Given the description of an element on the screen output the (x, y) to click on. 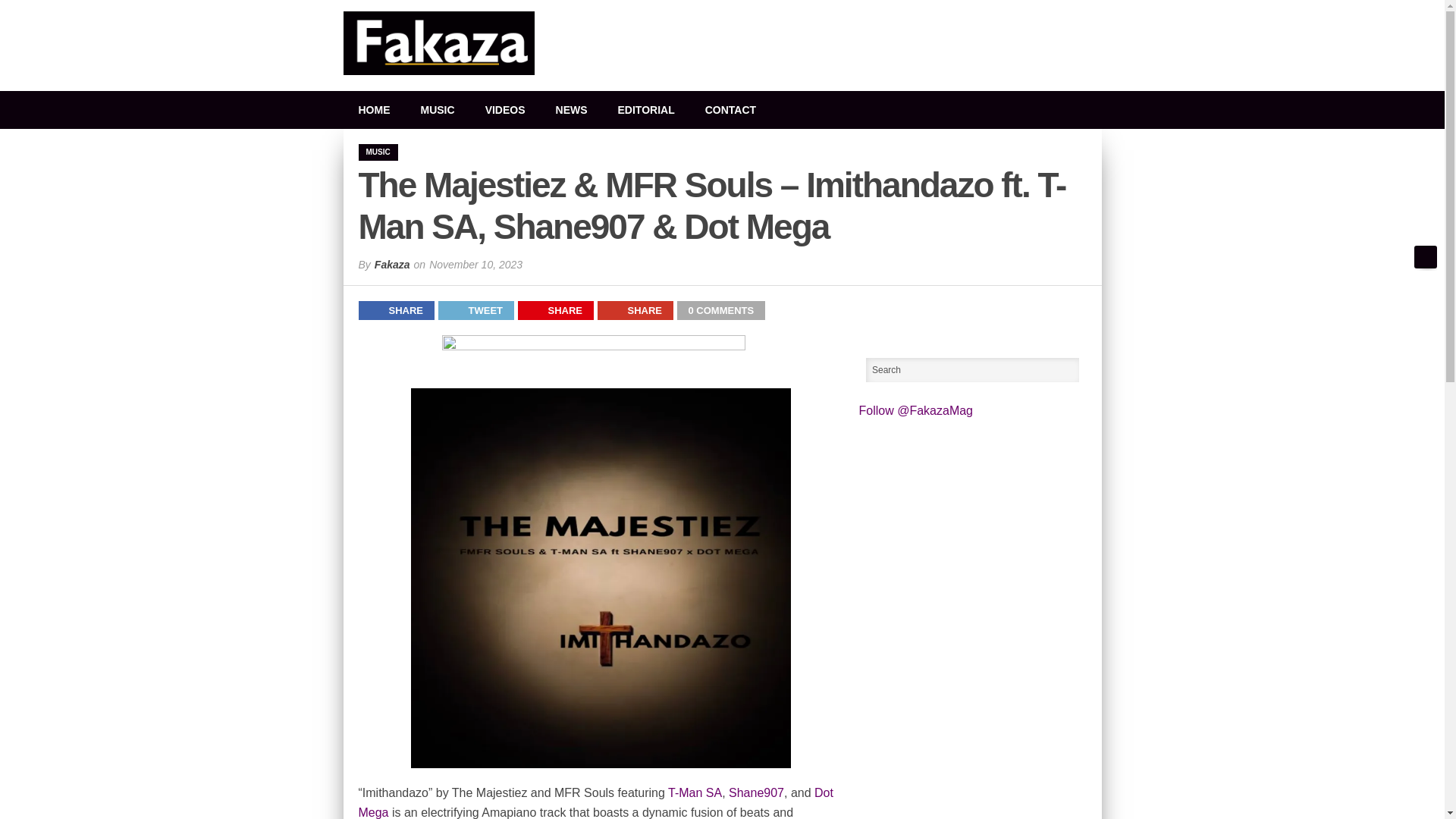
Search (973, 369)
Shane907 (756, 792)
T-Man SA (695, 792)
EDITORIAL (646, 109)
Dot Mega (595, 802)
MUSIC (436, 109)
VIDEOS (505, 109)
HOME (373, 109)
NEWS (571, 109)
Shane907 (756, 792)
